Given the description of an element on the screen output the (x, y) to click on. 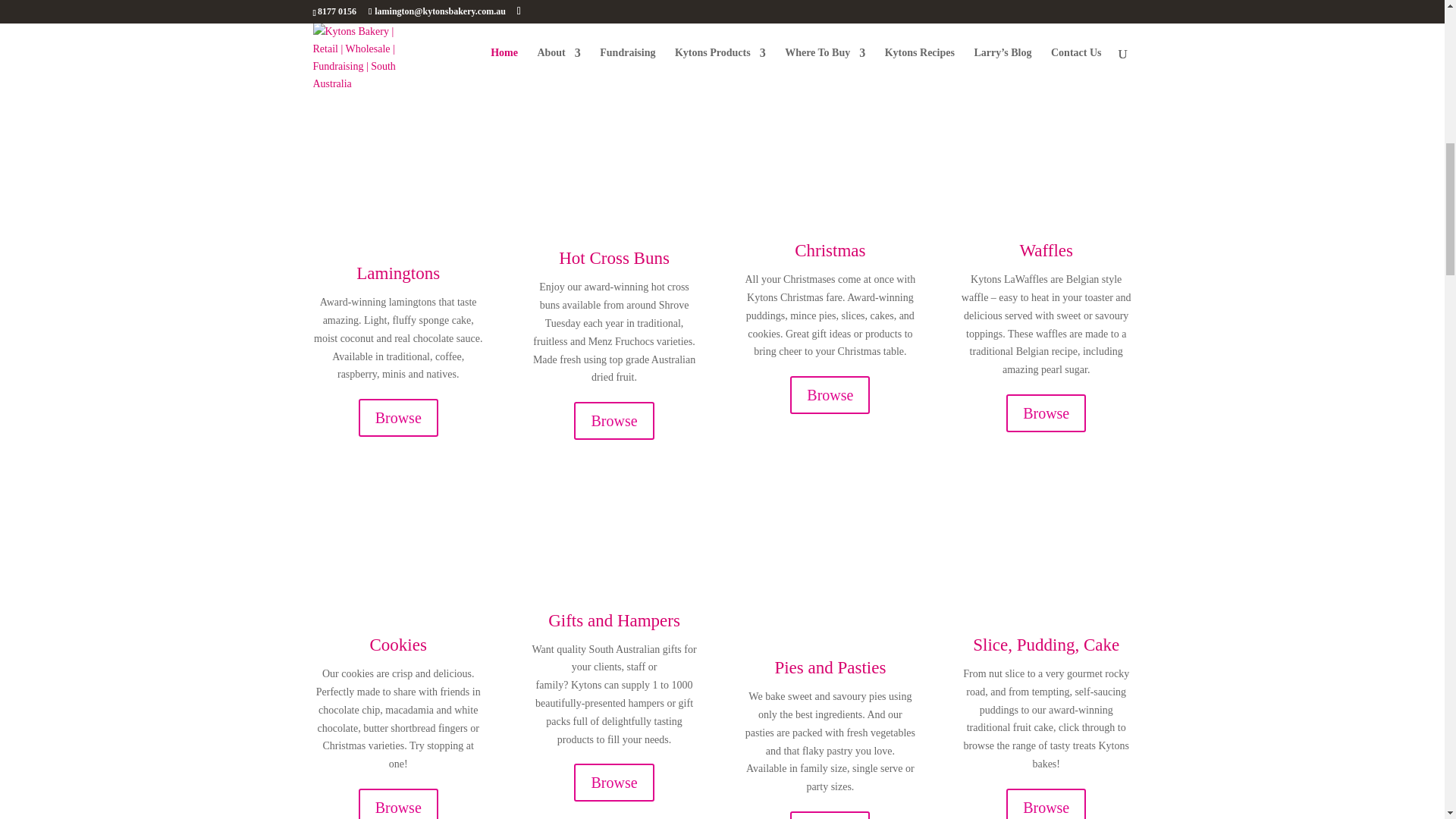
Kytons Cookie range w gingham (398, 537)
Browse (613, 420)
Browse (829, 394)
Browse (1046, 412)
Kytons Gifts and Hampers (613, 525)
Kytons-Waffles (1045, 142)
Browse (613, 782)
Browse (398, 417)
Kytons Product Hero shot (829, 548)
Browse (398, 803)
